Given the description of an element on the screen output the (x, y) to click on. 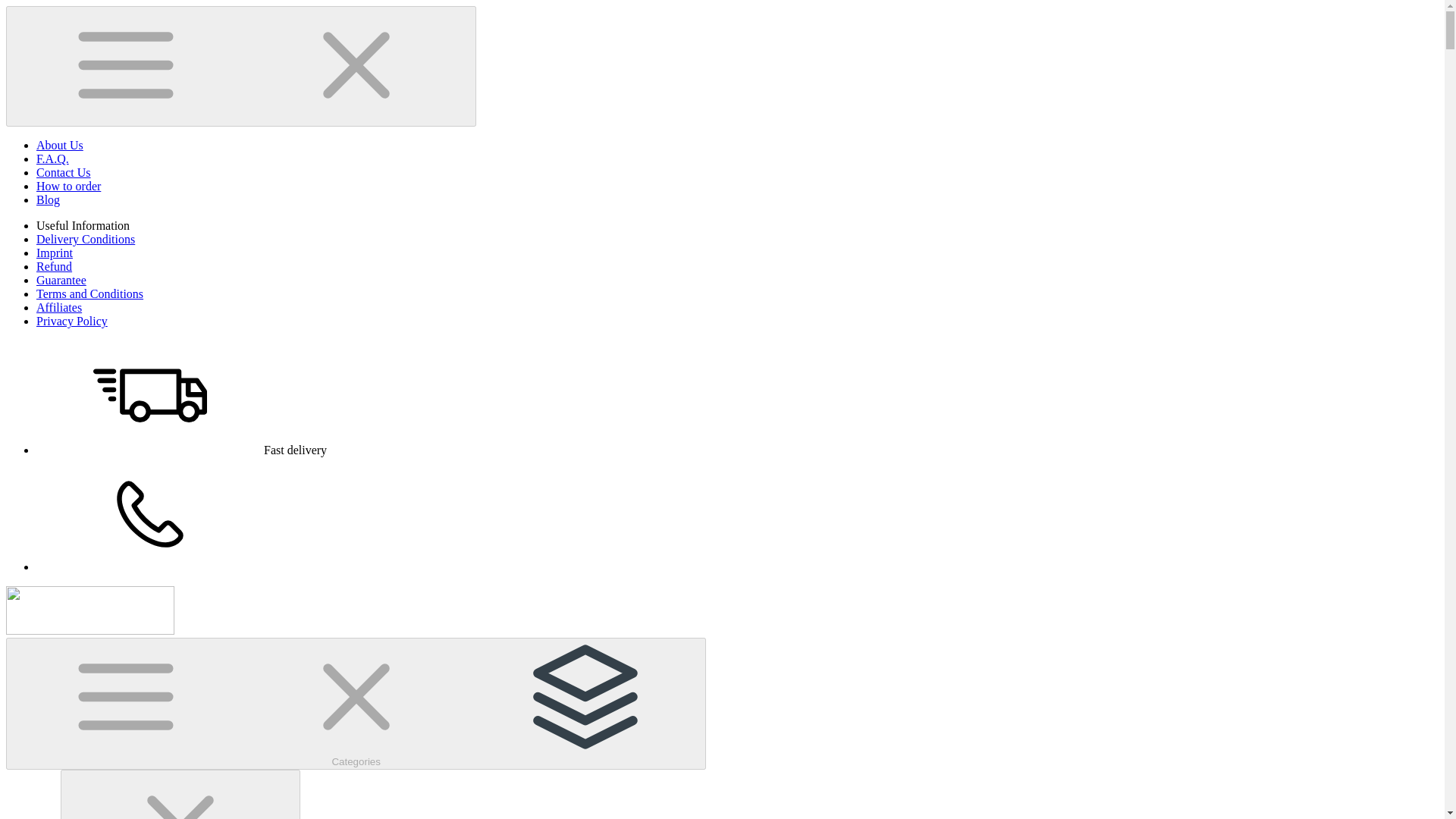
Contact Us (63, 172)
How to order (68, 185)
F.A.Q. (52, 158)
Privacy Policy (71, 320)
Guarantee (60, 279)
Refund (53, 266)
Terms and Conditions (89, 293)
Imprint (54, 252)
Blog (47, 199)
Categories (355, 703)
Delivery Conditions (85, 238)
Affiliates (58, 307)
About Us (59, 144)
